Given the description of an element on the screen output the (x, y) to click on. 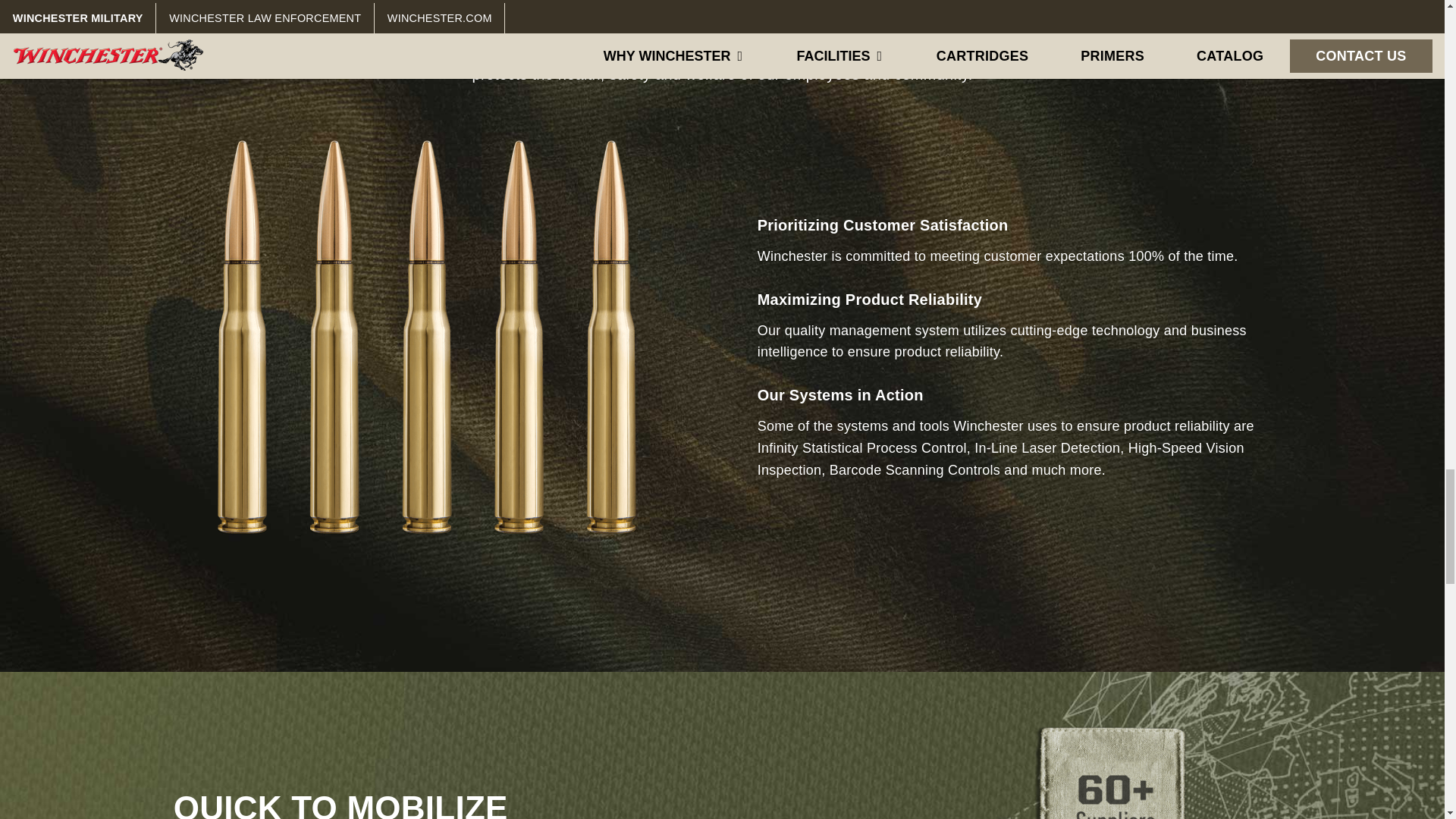
QUICK TO MOBILIZE (340, 804)
